Given the description of an element on the screen output the (x, y) to click on. 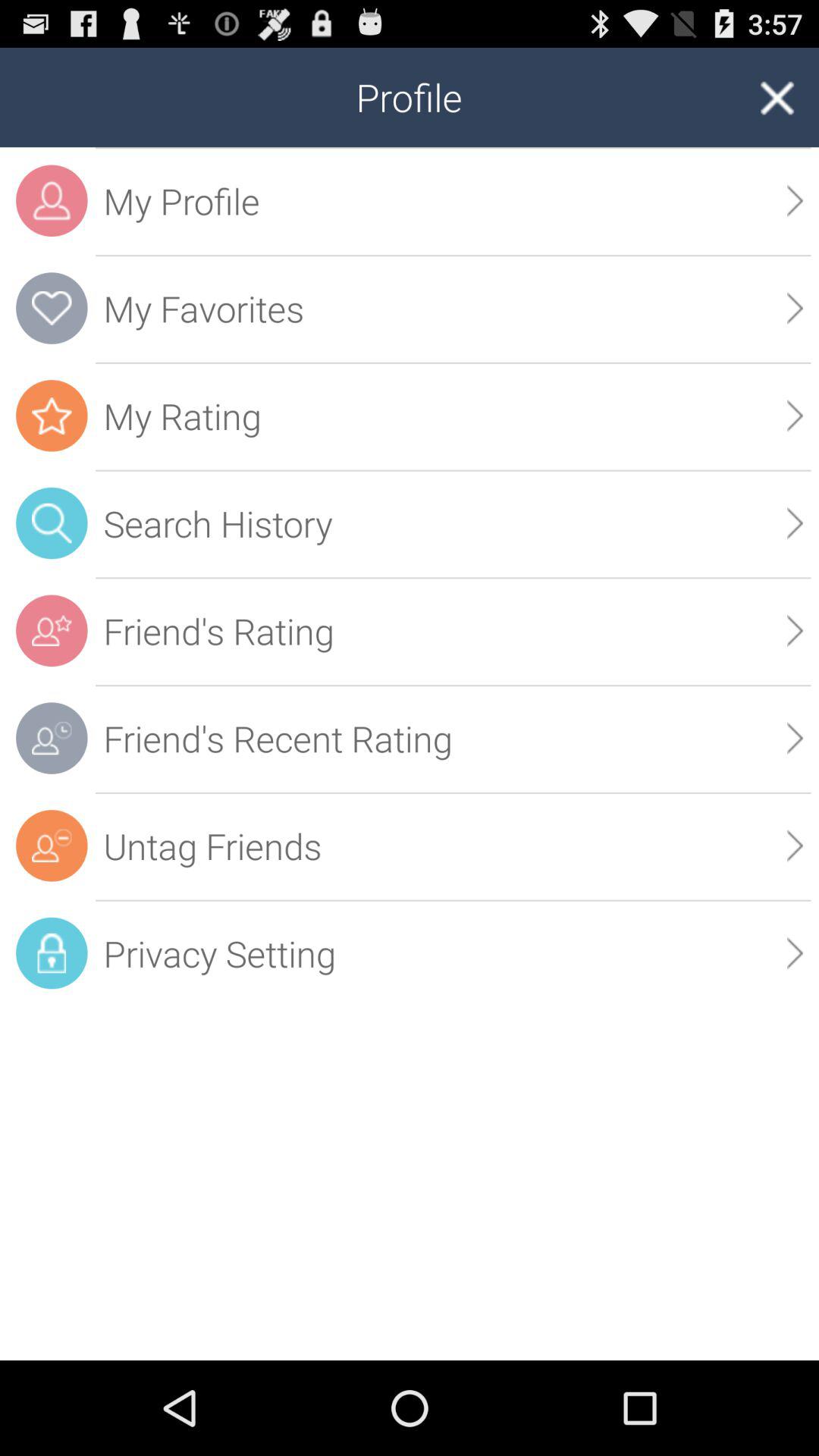
select the privacy setting icon (51, 952)
click on cancel icon at the top (776, 97)
select the search icon which in the blue color (51, 523)
go to the icon which is left to the friends rating (51, 630)
select the star icon which is  in the orange color (51, 415)
select the icon which is just beside the my profile (51, 200)
tap the next button just right to the search history (795, 523)
select my favorites icon (51, 307)
